Given the description of an element on the screen output the (x, y) to click on. 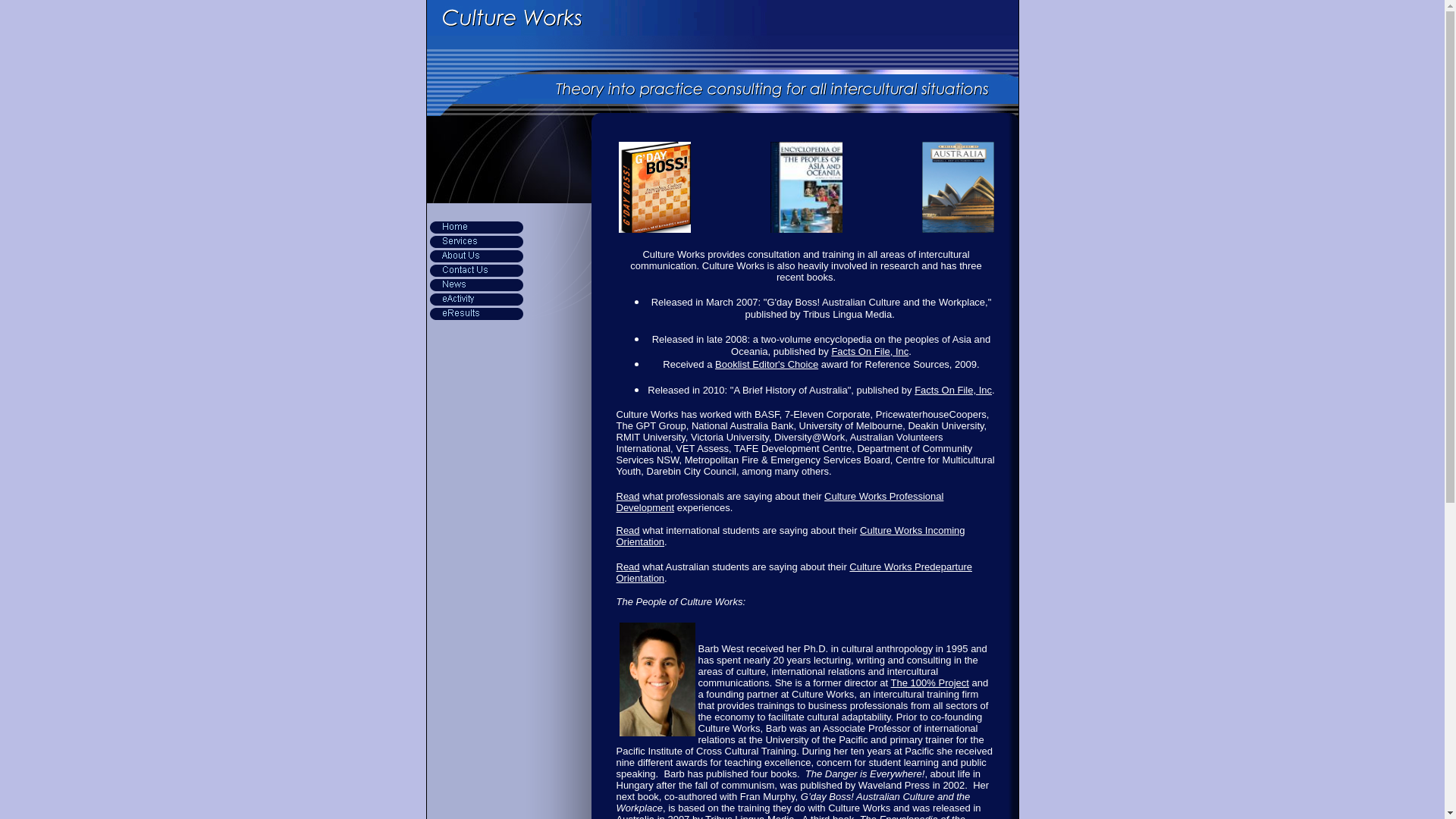
Read Element type: text (627, 530)
eResults Element type: hover (476, 313)
Home Element type: hover (476, 226)
Contact Us Element type: hover (476, 270)
Facts On File, Inc Element type: text (869, 351)
About Us Element type: hover (476, 255)
eActivity Element type: hover (476, 298)
Services Element type: hover (476, 241)
News Element type: hover (476, 284)
Culture Works Element type: hover (721, 17)
Culture Works Professional Development Element type: text (779, 501)
The 100% Project Element type: text (930, 682)
G%27day_Boss_thumb_Book_on_angle_NEW Element type: hover (654, 186)
EncyImage Element type: hover (806, 186)
Booklist Editor's Choice Element type: text (766, 364)
B Element type: hover (656, 679)
Culture Works Incoming Orientation Element type: text (789, 535)
Facts On File, Inc Element type: text (952, 389)
Read Element type: text (627, 496)
Read Element type: text (627, 566)
Culture Works Predeparture Orientation Element type: text (793, 572)
